Given the description of an element on the screen output the (x, y) to click on. 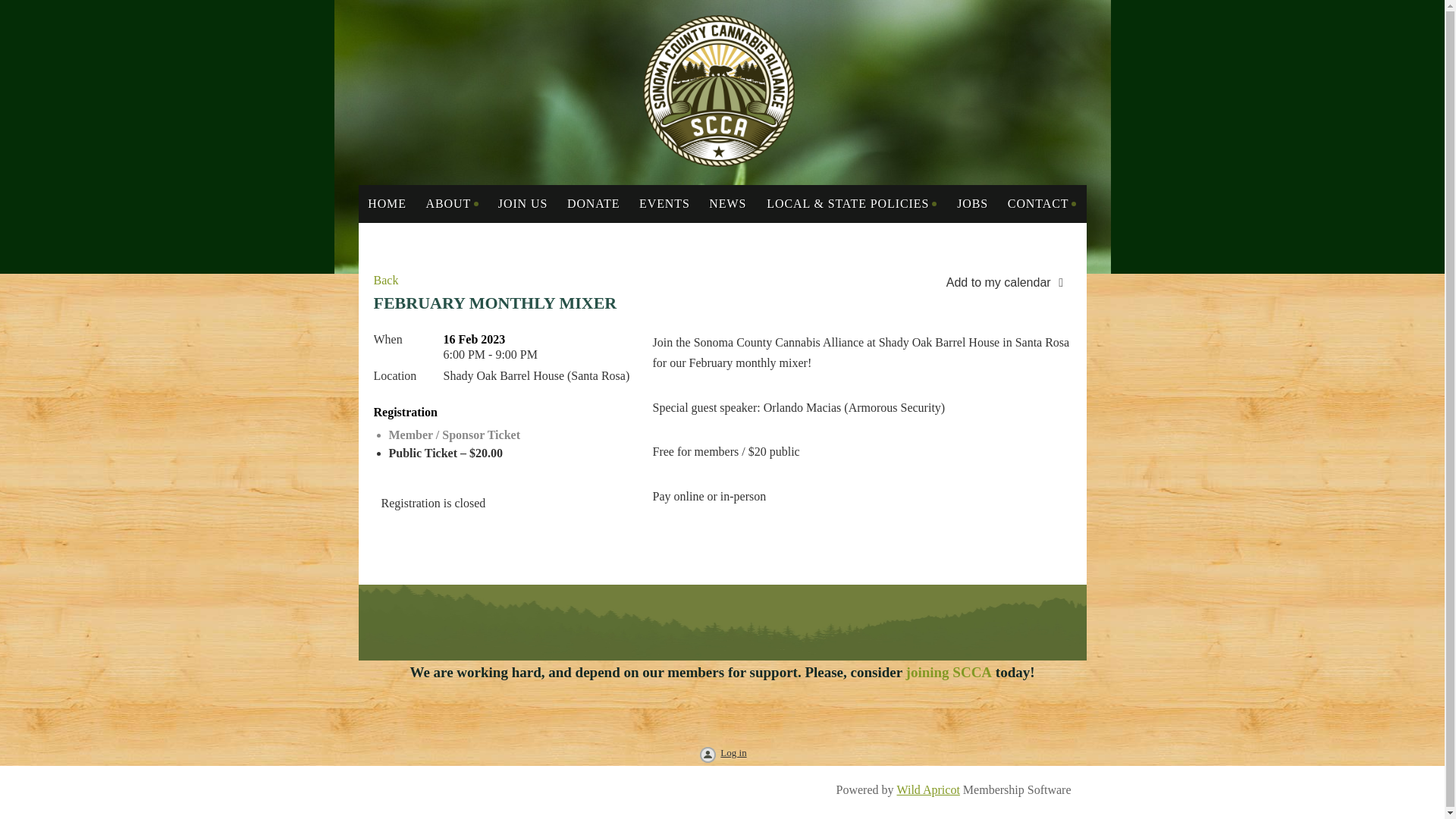
EVENTS (663, 203)
Home (386, 203)
JOIN US (522, 203)
About (451, 203)
Log in (721, 755)
Events (663, 203)
DONATE (592, 203)
joining SCCA (950, 672)
Back (384, 280)
Wild Apricot (927, 789)
HOME (386, 203)
JOBS (972, 203)
Contact (1041, 203)
News (727, 203)
Join us (522, 203)
